Given the description of an element on the screen output the (x, y) to click on. 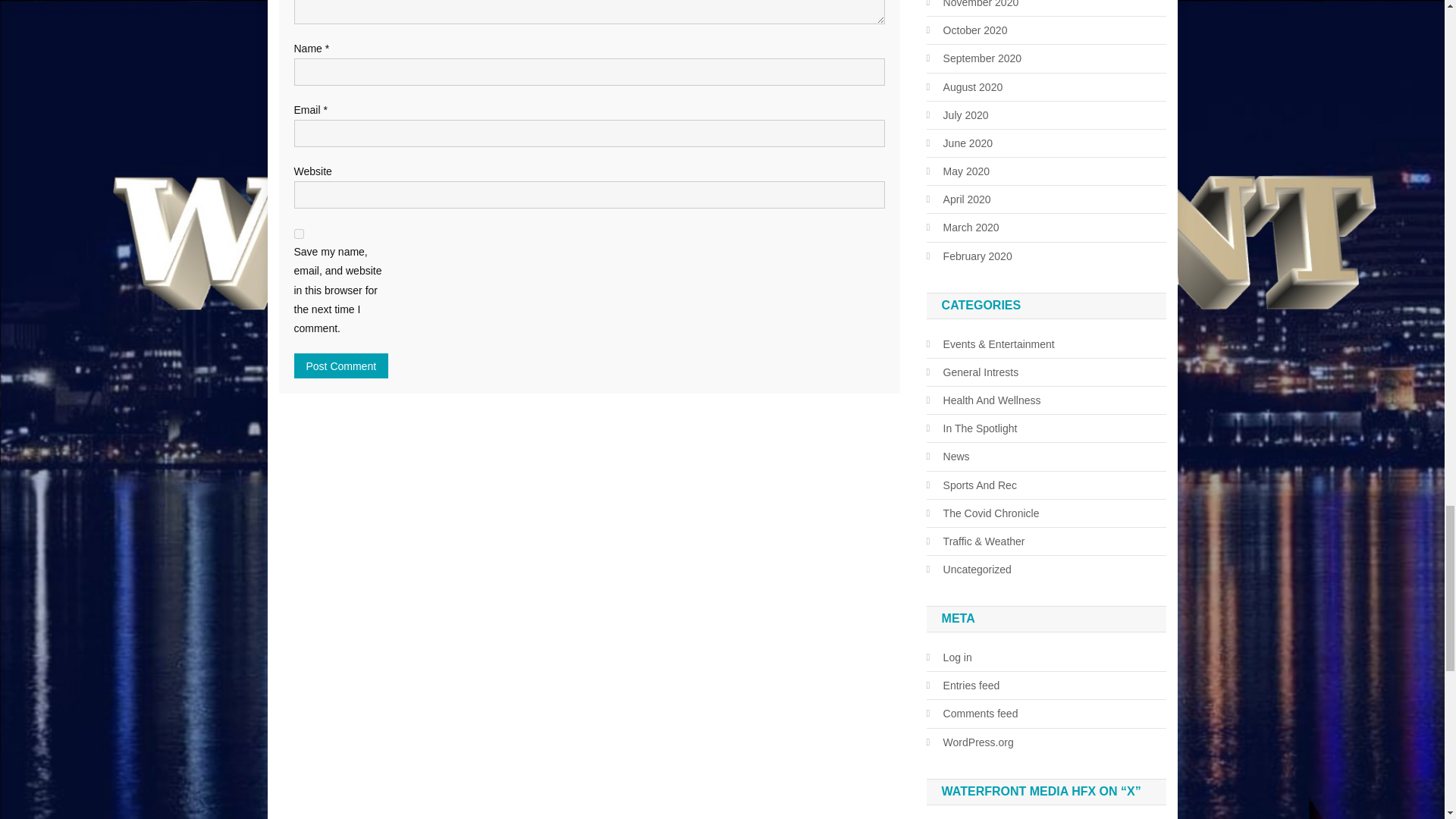
Post Comment (341, 365)
Post Comment (341, 365)
yes (299, 234)
